Given the description of an element on the screen output the (x, y) to click on. 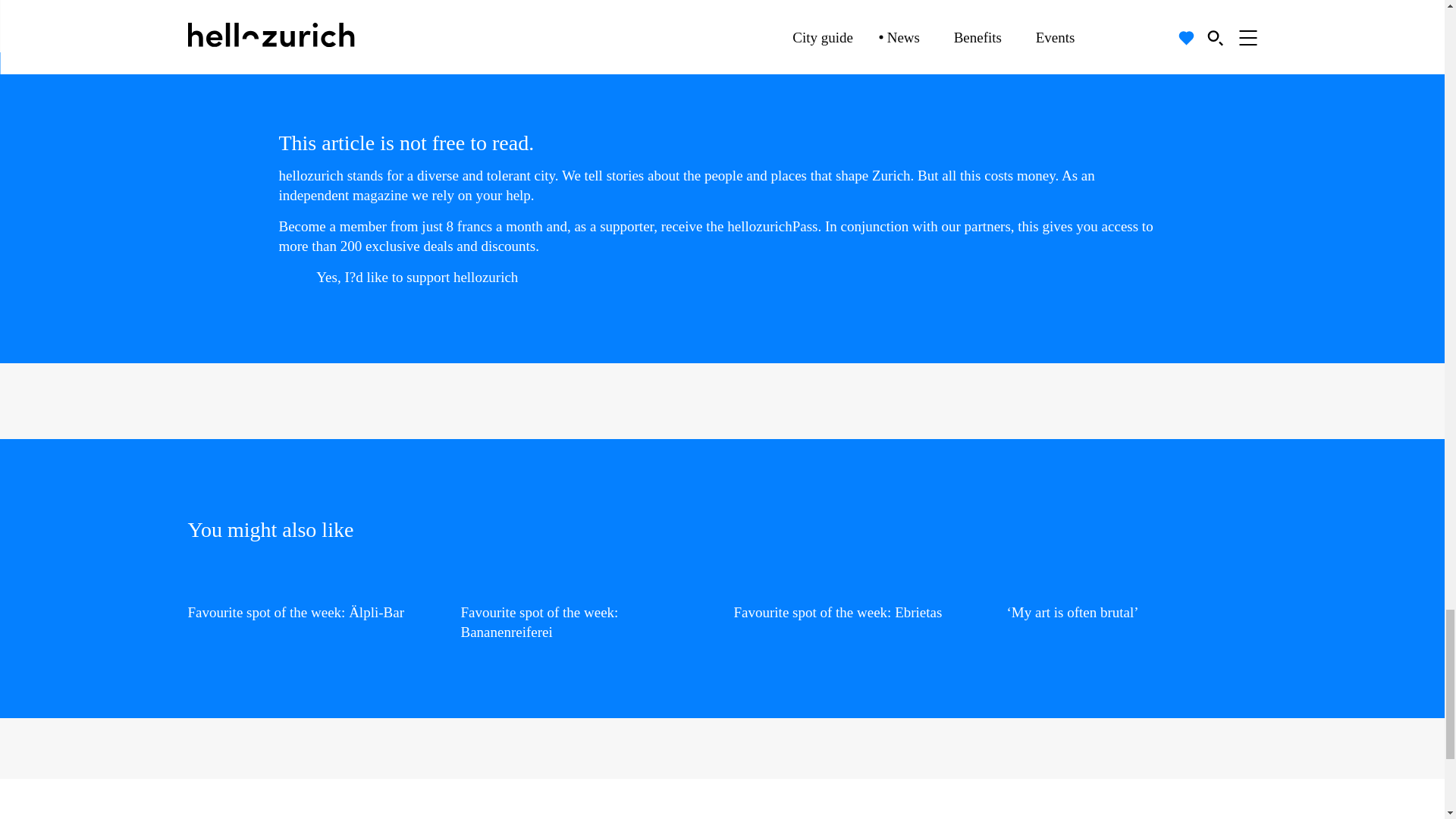
Favourite spot of the week: Ebrietas (858, 598)
Yes, I?d like to support hellozurich (427, 277)
Favourite spot of the week: Bananenreiferei (586, 608)
